Given the description of an element on the screen output the (x, y) to click on. 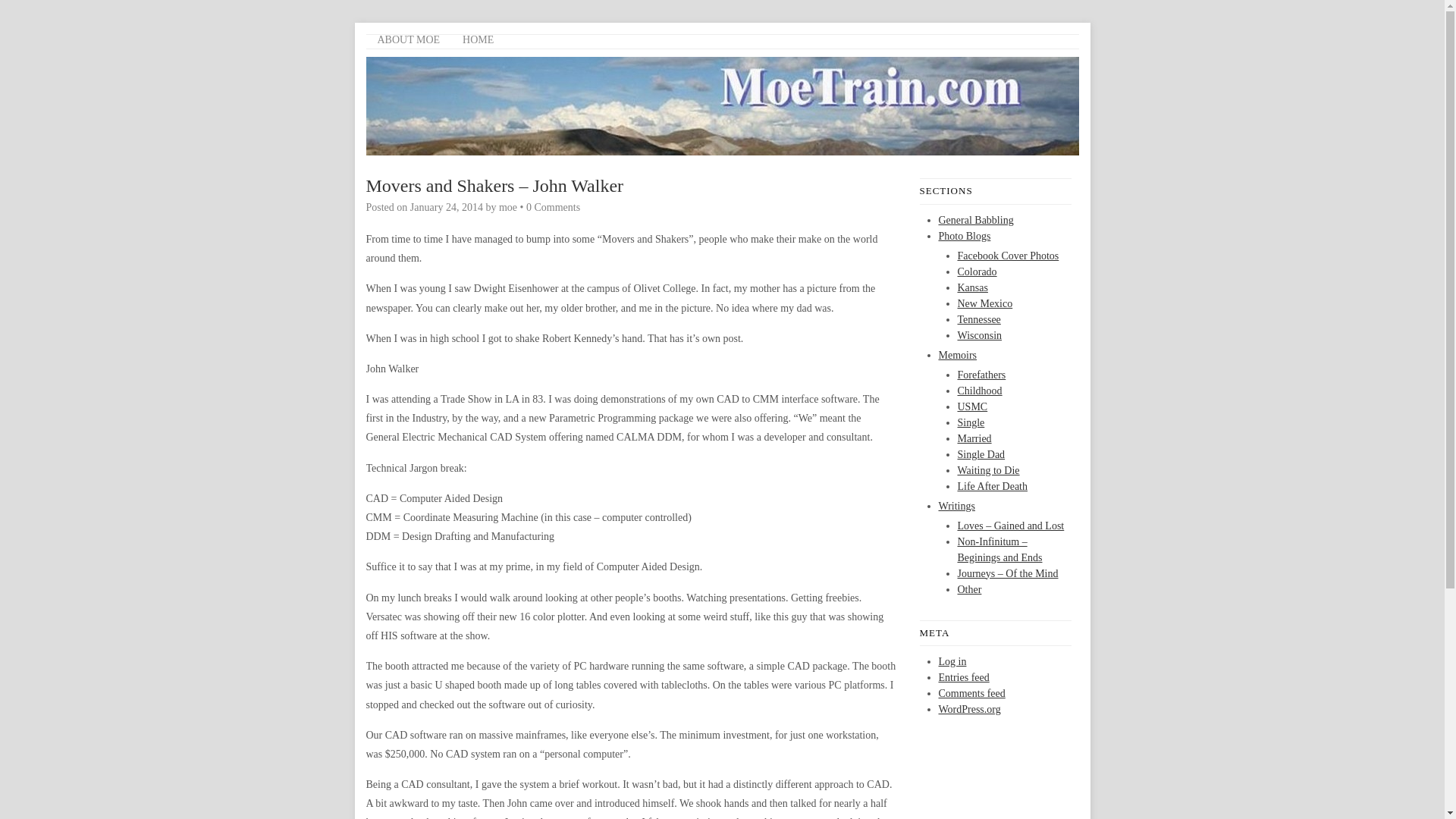
Colorado (975, 270)
Tennessee (978, 319)
Wisconsin (978, 334)
General Babbling (976, 219)
Photo Blogs (965, 235)
0 Comments (552, 206)
Childhood (978, 390)
Forefathers (981, 374)
Other (968, 589)
Entries feed (964, 677)
New Mexico (983, 302)
moe (507, 206)
Life After Death (991, 486)
Memoirs (957, 354)
Waiting to Die (987, 469)
